Given the description of an element on the screen output the (x, y) to click on. 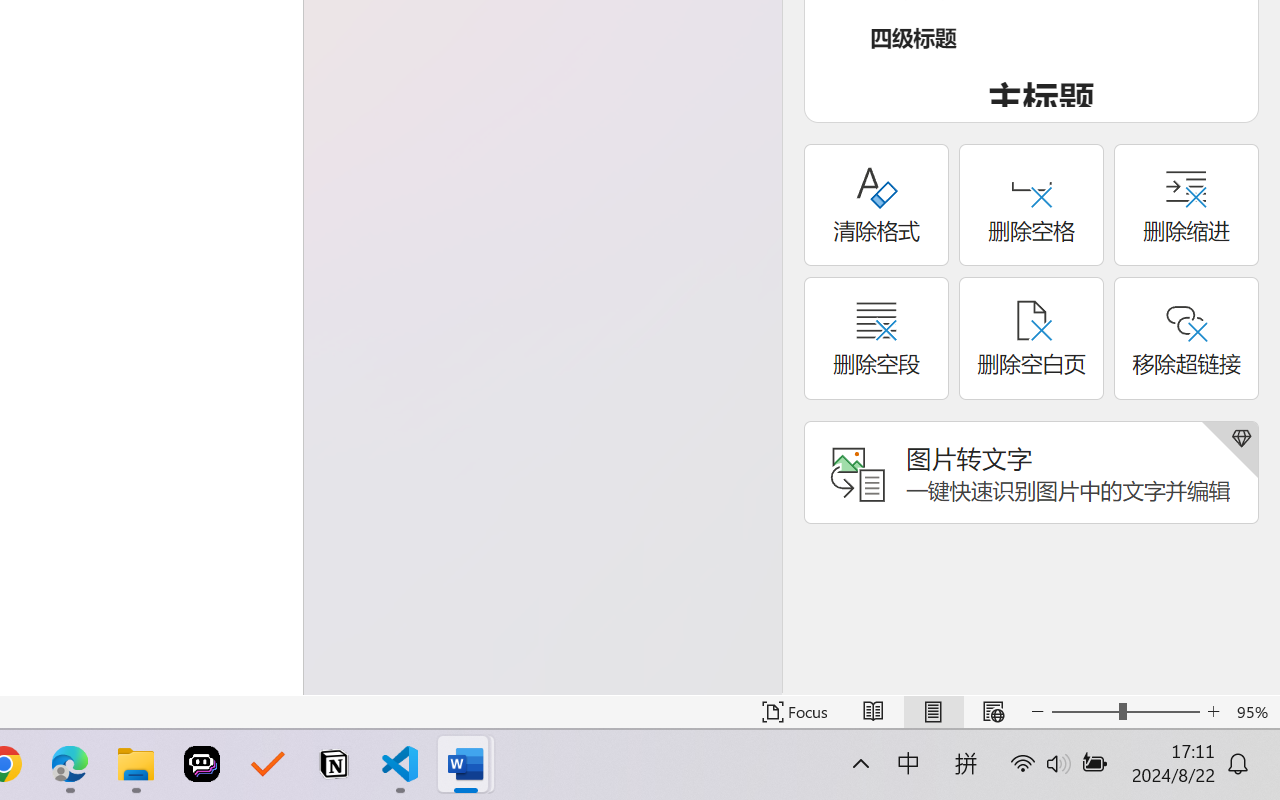
Zoom 95% (1253, 712)
